Given the description of an element on the screen output the (x, y) to click on. 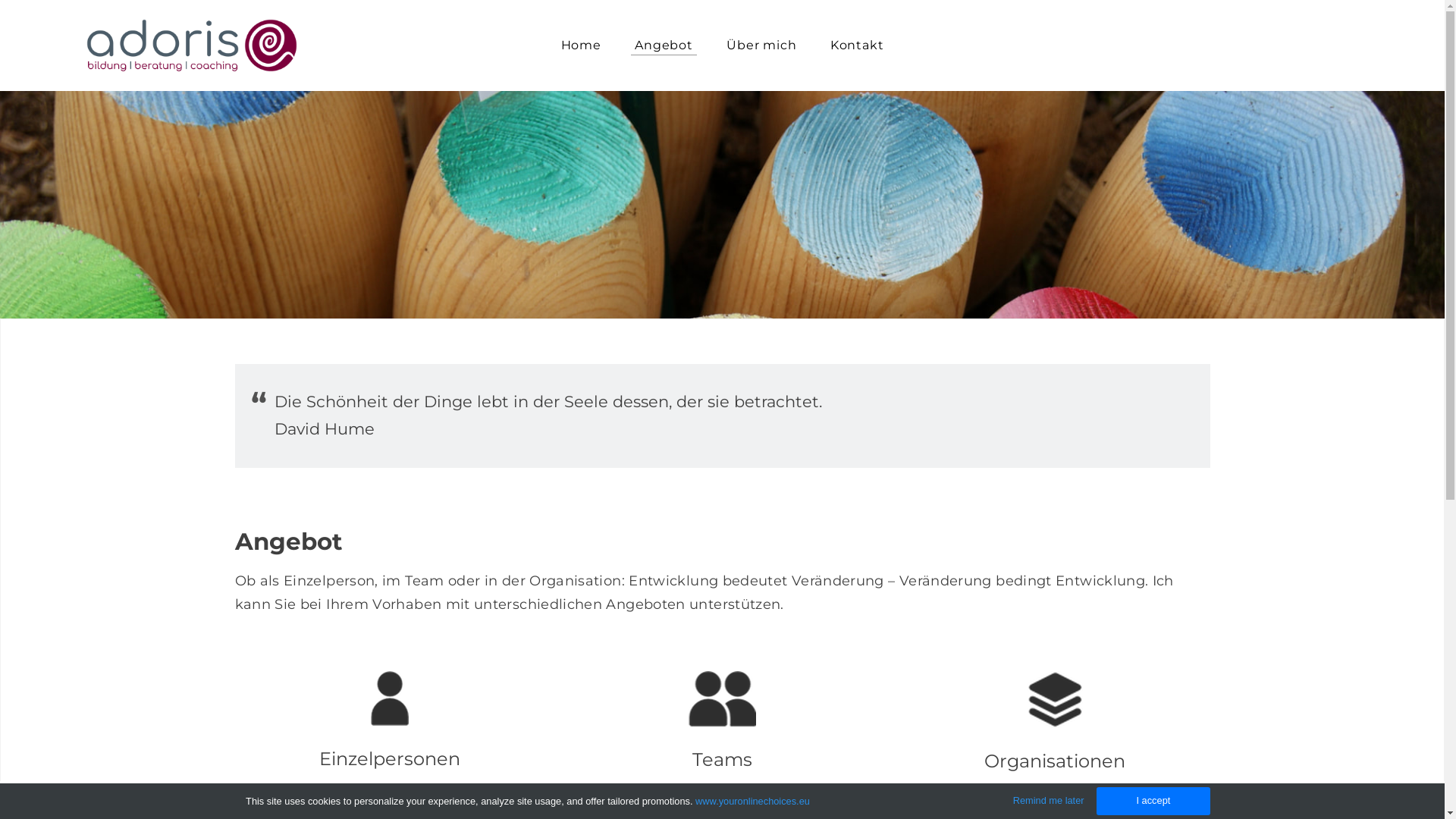
Angebot Element type: text (663, 45)
Kontakt Element type: text (857, 45)
www.youronlinechoices.eu Element type: text (752, 800)
I accept Element type: text (1153, 801)
Remind me later Element type: text (1048, 800)
Home Element type: text (581, 45)
